Given the description of an element on the screen output the (x, y) to click on. 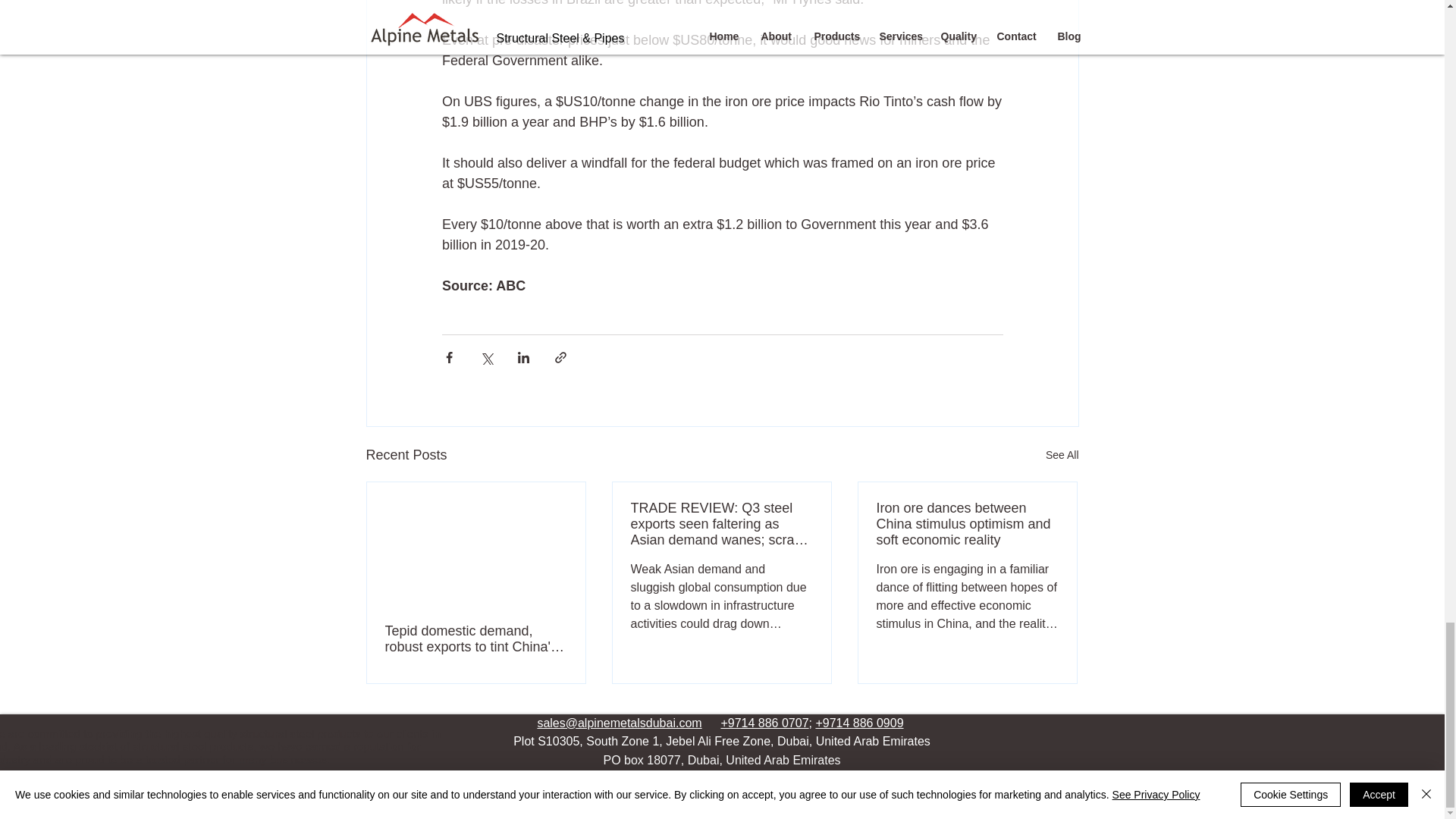
See All (1061, 455)
